Given the description of an element on the screen output the (x, y) to click on. 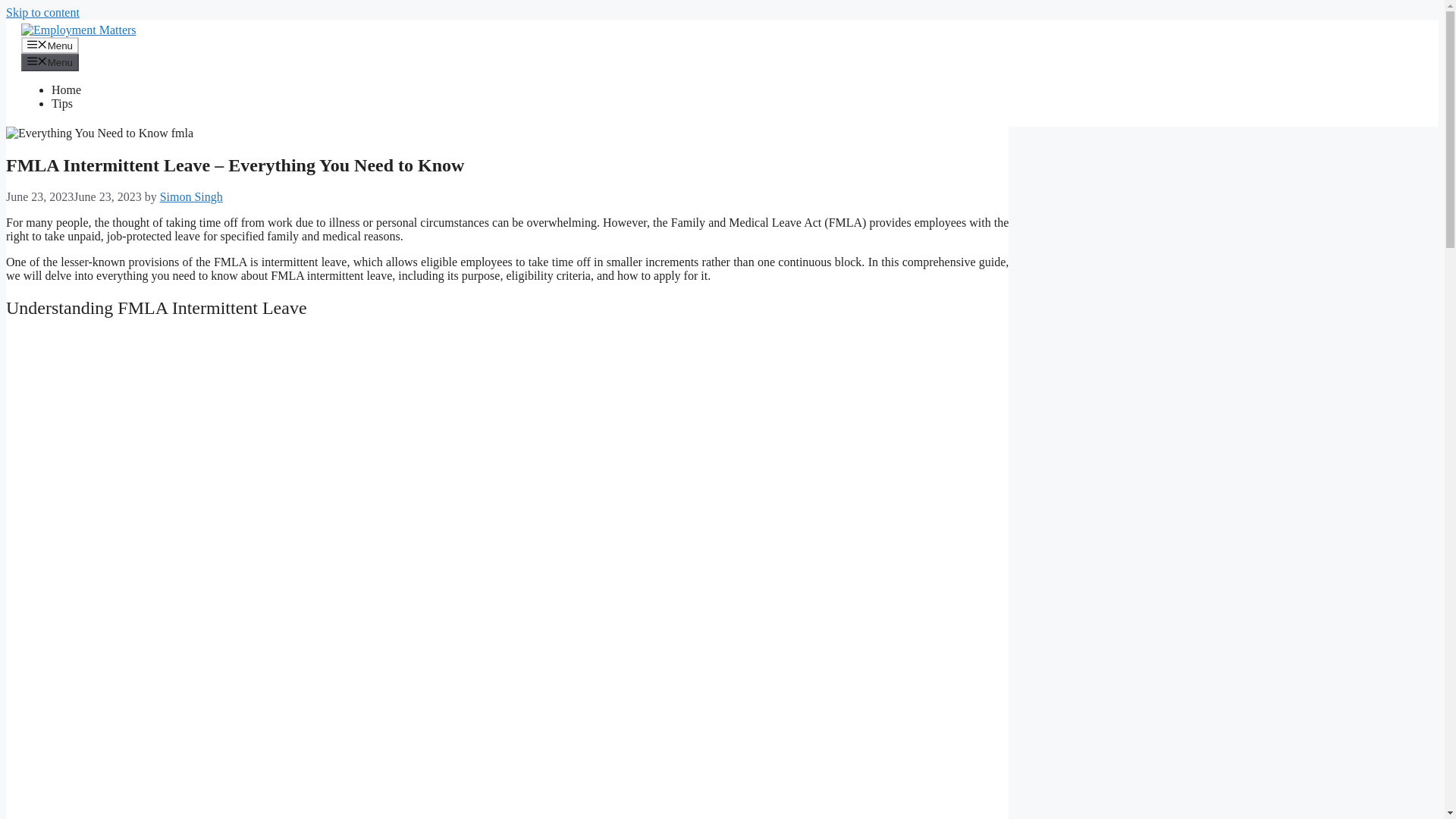
View all posts by Simon Singh (191, 196)
Menu (49, 62)
Simon Singh (191, 196)
Home (65, 89)
Skip to content (42, 11)
Menu (49, 45)
Skip to content (42, 11)
Tips (61, 103)
